Given the description of an element on the screen output the (x, y) to click on. 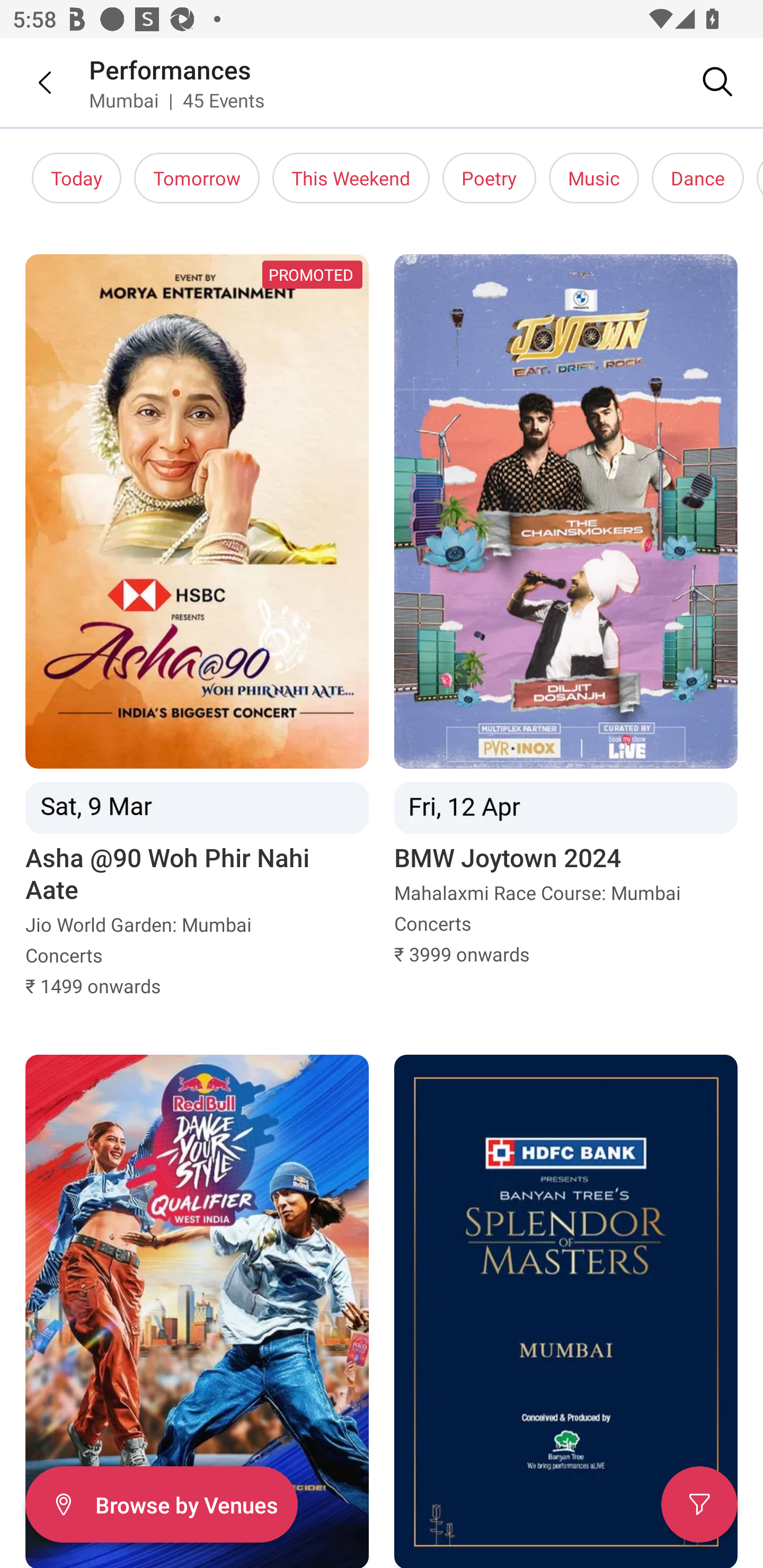
Back (31, 82)
Performances (170, 68)
Mumbai  |  45 Events (177, 99)
Today (76, 177)
Tomorrow (196, 177)
This Weekend (350, 177)
Poetry (489, 177)
Music (593, 177)
Dance (697, 177)
Filter Browse by Venues (161, 1504)
Filter (699, 1504)
